Given the description of an element on the screen output the (x, y) to click on. 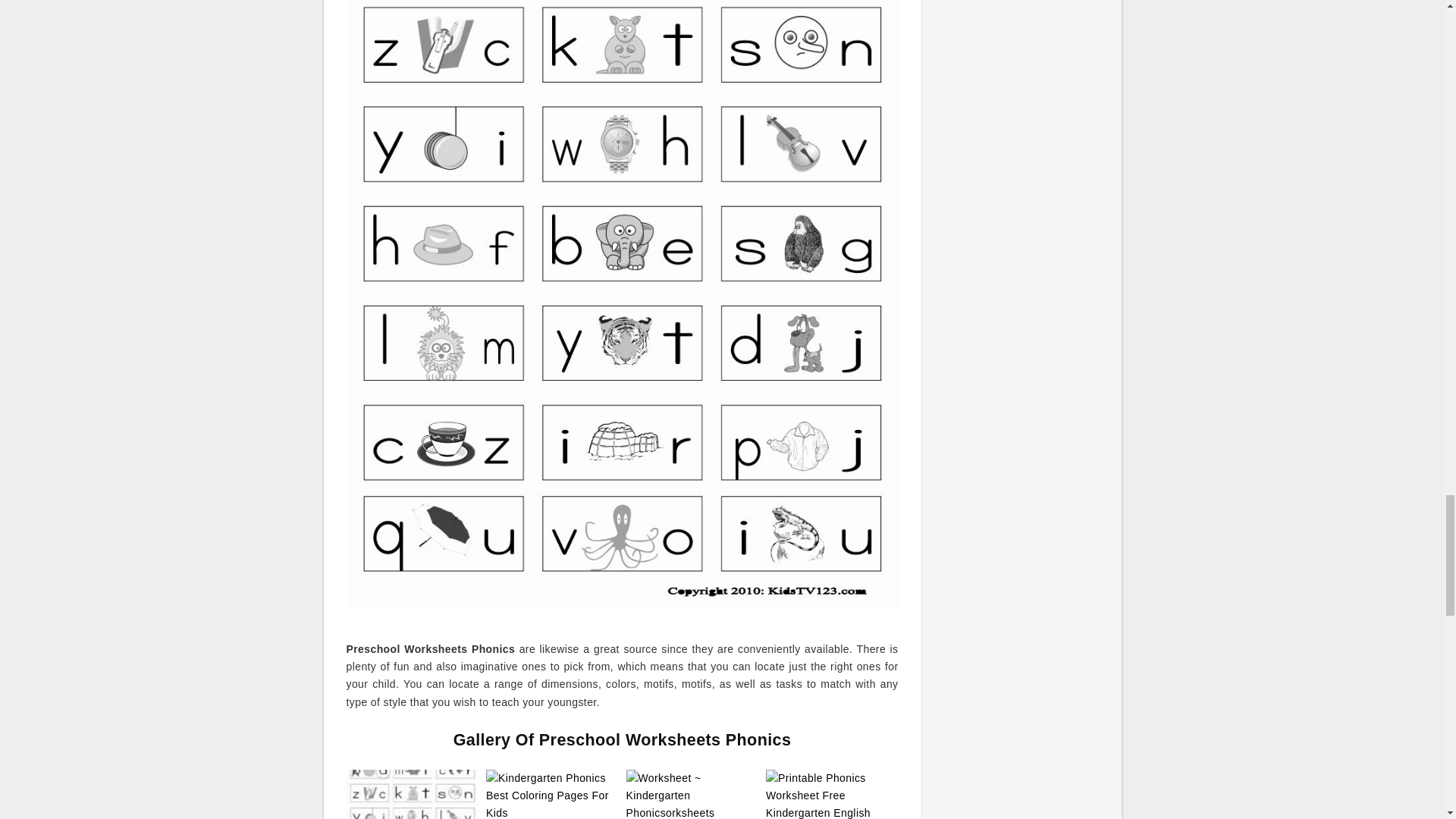
Printable Phonics Worksheet   Free Kindergarten English (831, 794)
Kindergarten Phonics   Best Coloring Pages For Kids (552, 794)
Printable Phonics Worksheet   Free Kindergarten English (831, 794)
Kindergarten Phonics   Best Coloring Pages For Kids (552, 794)
Image Result For Jolly Phonics Worksheets Printables (412, 794)
